Given the description of an element on the screen output the (x, y) to click on. 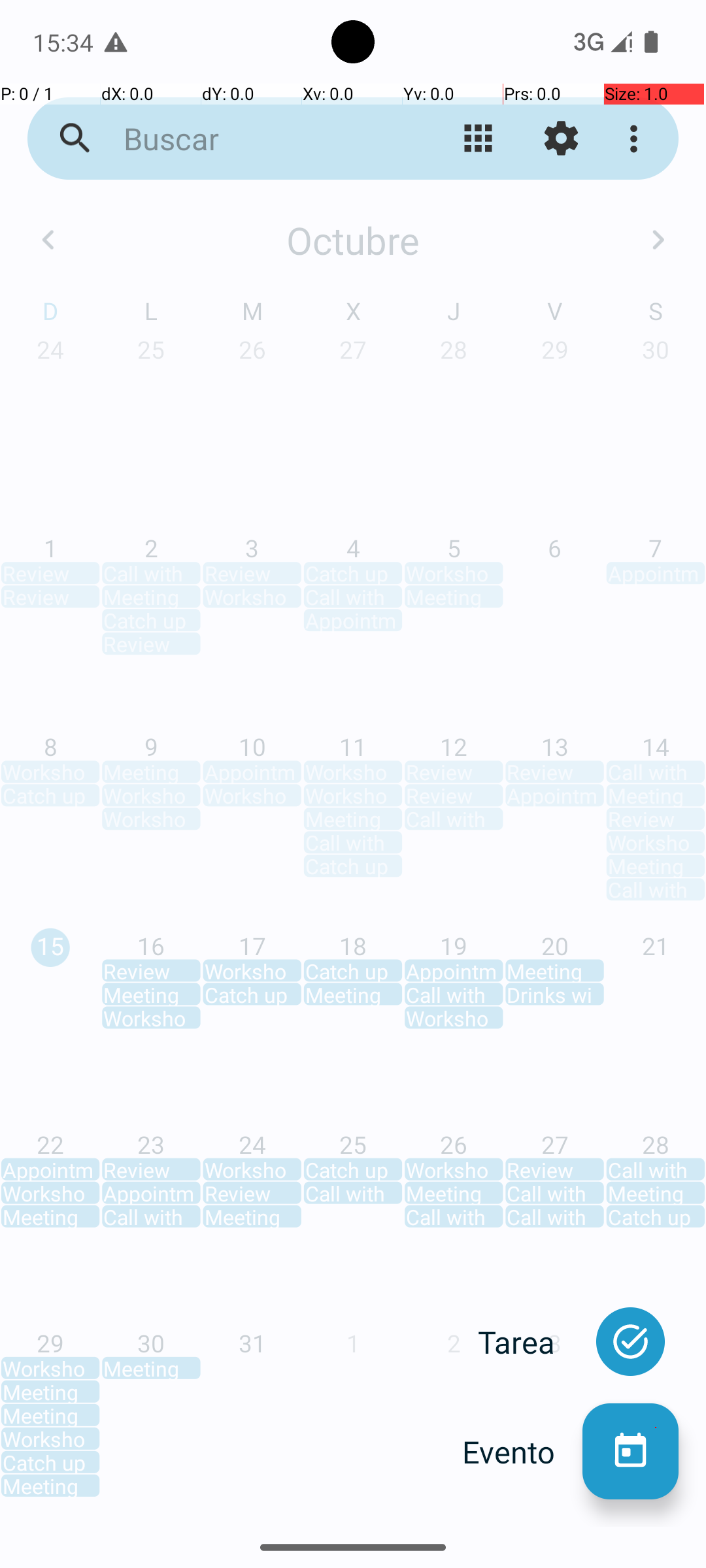
Tarea Element type: android.widget.TextView (529, 1341)
Evento Element type: android.widget.TextView (522, 1451)
